Given the description of an element on the screen output the (x, y) to click on. 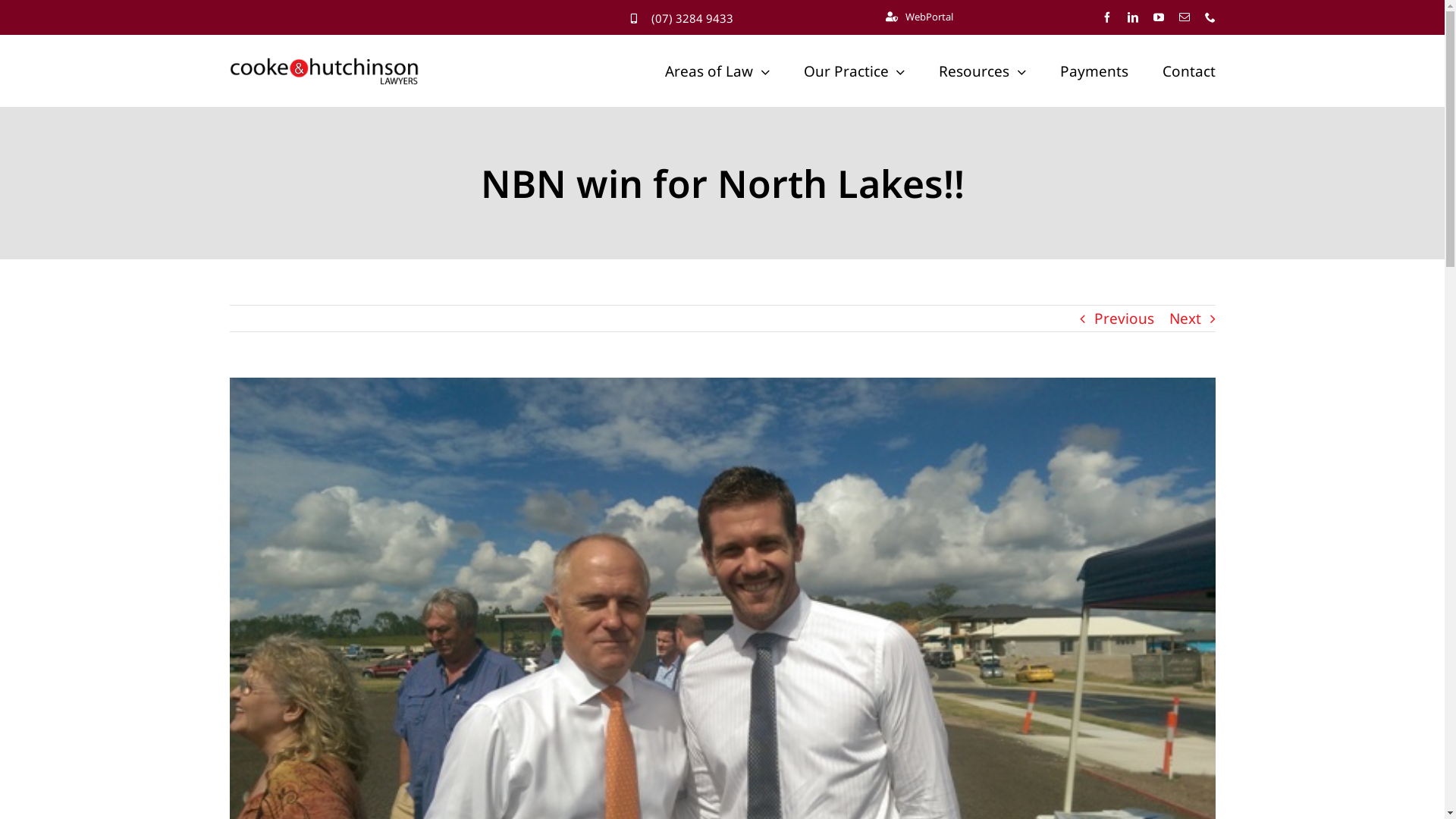
Resources Element type: text (982, 70)
Payments Element type: text (1094, 70)
Next Element type: text (1185, 318)
Areas of Law Element type: text (717, 70)
Previous Element type: text (1123, 318)
Our Practice Element type: text (854, 70)
Contact Element type: text (1187, 70)
WebPortal Element type: text (918, 16)
(07) 3284 9433 Element type: text (691, 17)
